Given the description of an element on the screen output the (x, y) to click on. 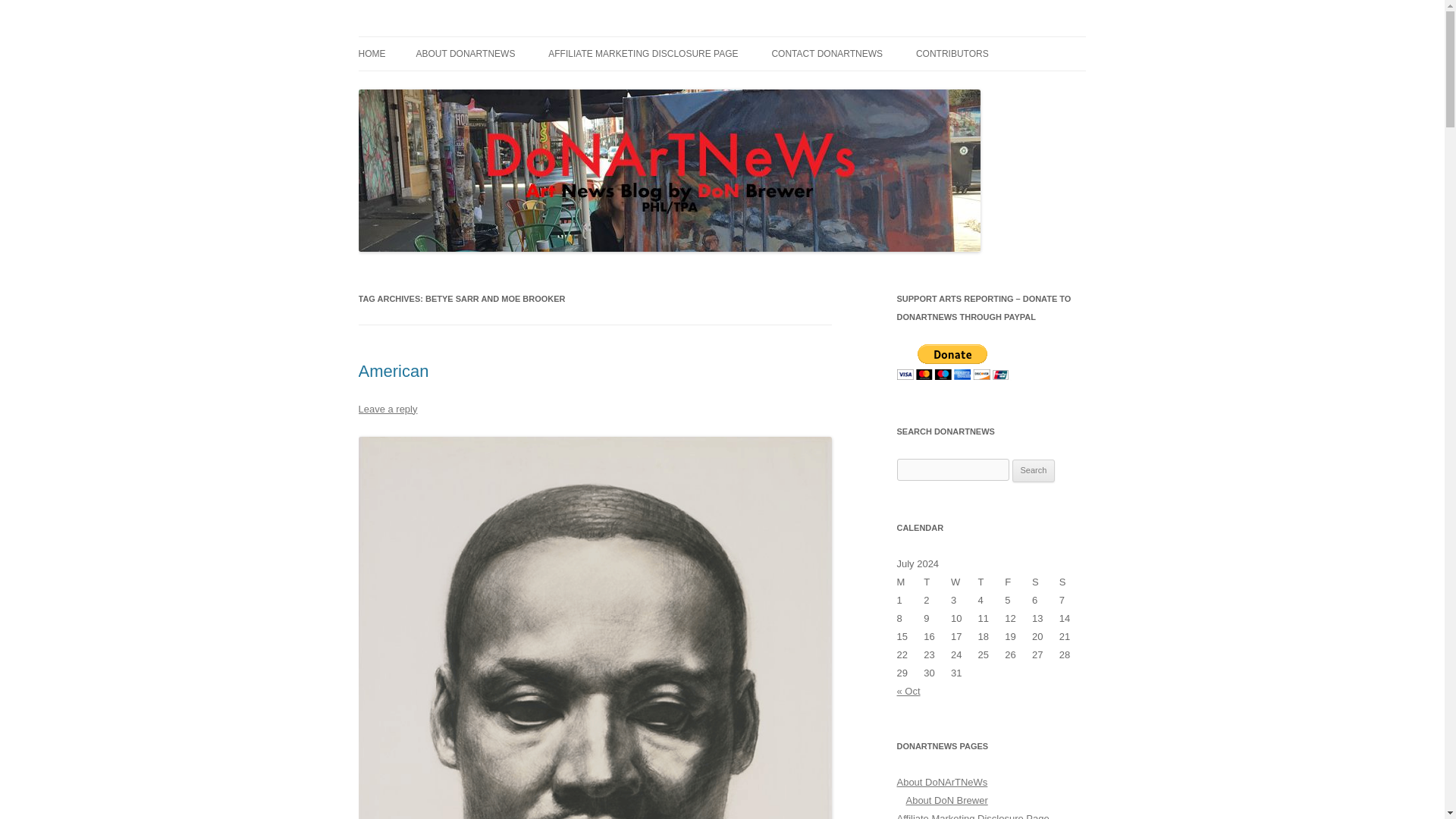
LAURA STORCK (991, 85)
HOME (371, 53)
CONTRIBUTORS (951, 53)
Search (1033, 470)
AFFILIATE MARKETING DISCLOSURE PAGE (643, 53)
Leave a reply (387, 408)
American (393, 370)
DoNArTNeWs (422, 36)
DoNArTNeWs (422, 36)
CONTACT DONARTNEWS (826, 53)
ABOUT DON BREWER (490, 85)
ABOUT DONARTNEWS (464, 53)
